Given the description of an element on the screen output the (x, y) to click on. 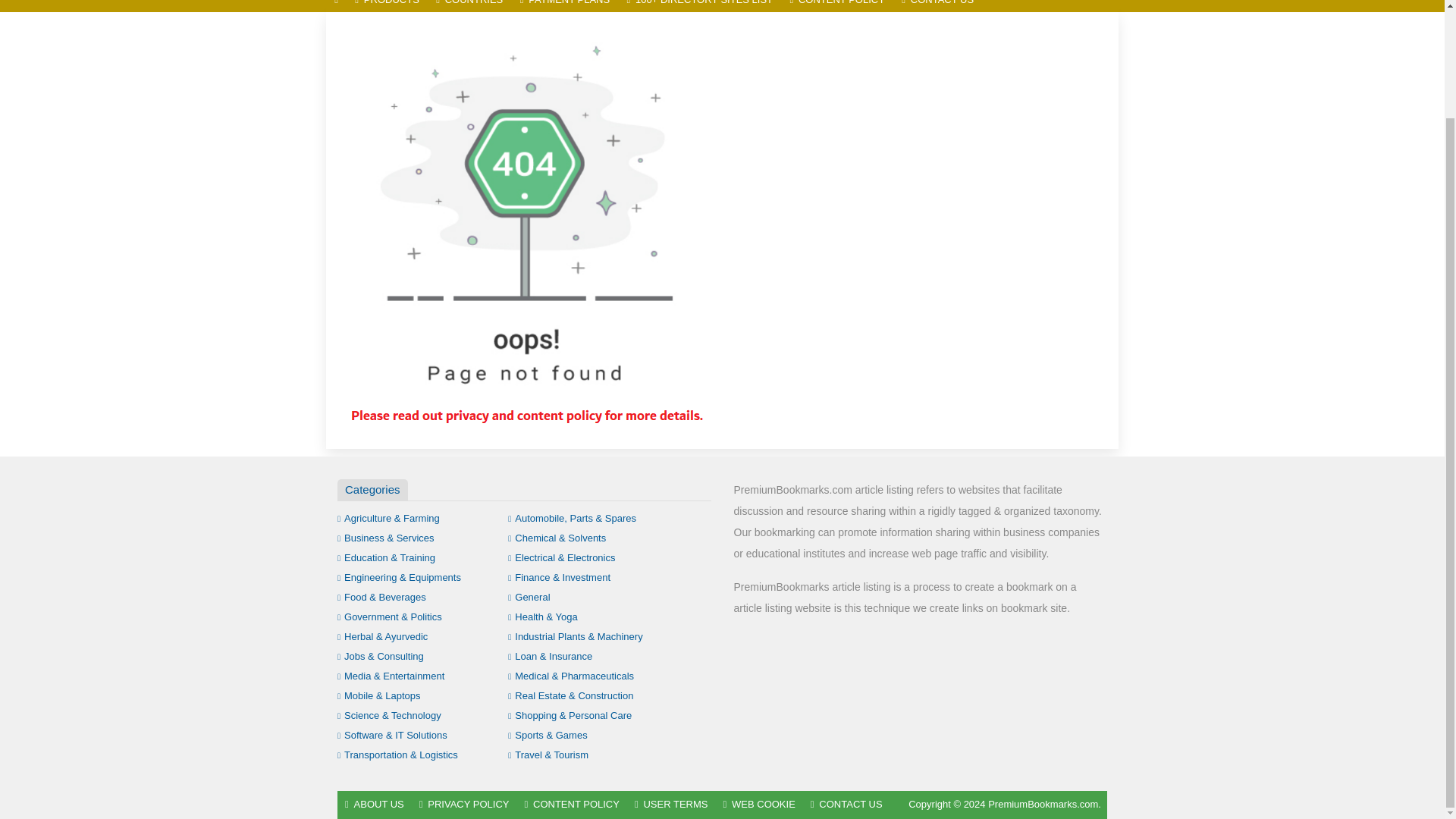
HOME (336, 6)
PRODUCTS (387, 6)
General (529, 596)
PAYMENT PLANS (564, 6)
COUNTRIES (469, 6)
CONTENT POLICY (836, 6)
CONTACT US (937, 6)
